Given the description of an element on the screen output the (x, y) to click on. 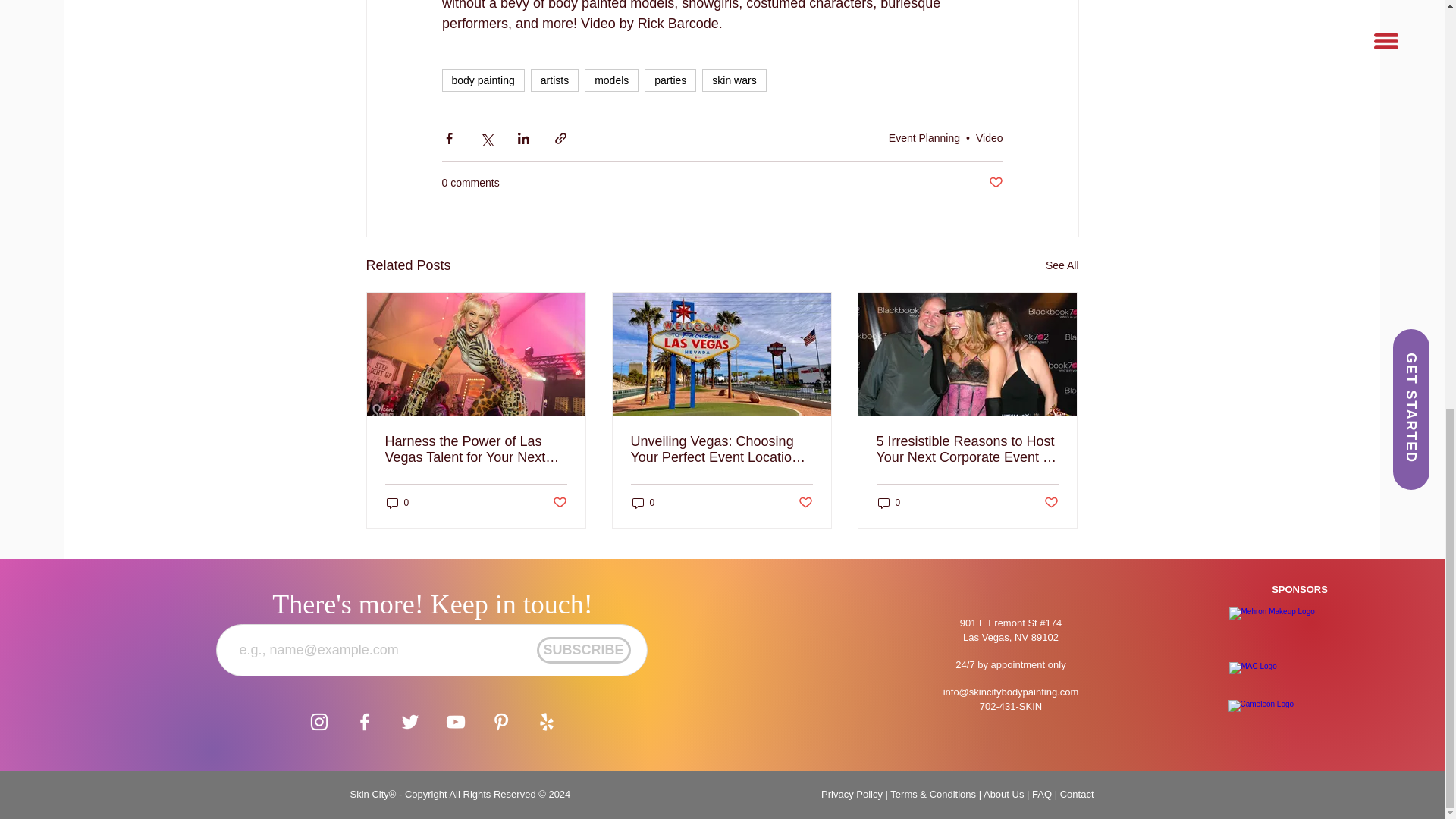
models (612, 79)
0 (889, 503)
Post not marked as liked (558, 503)
artists (554, 79)
Post not marked as liked (1050, 503)
parties (670, 79)
Event Planning (923, 137)
See All (1061, 265)
skin wars (733, 79)
